Given the description of an element on the screen output the (x, y) to click on. 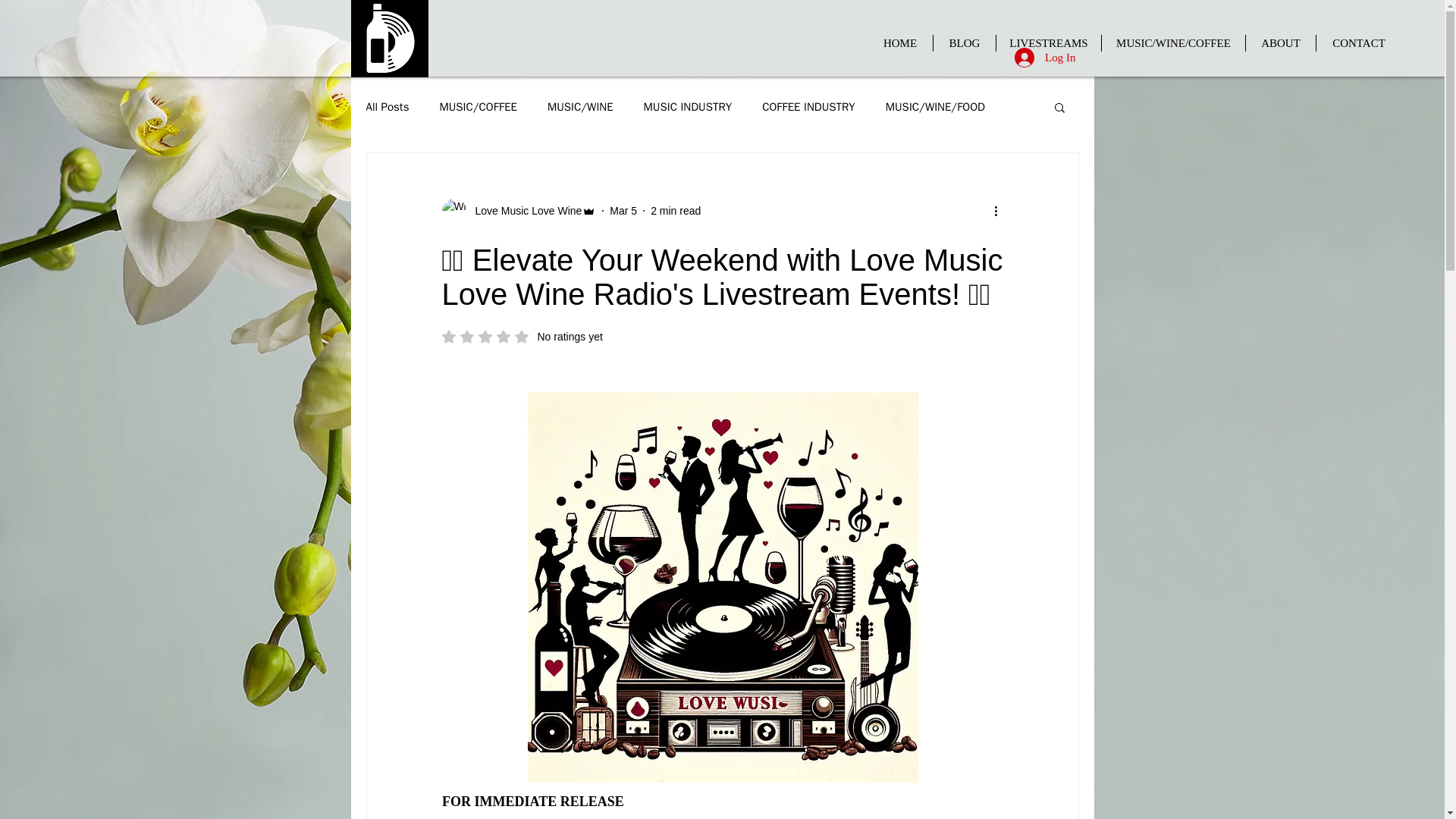
HOME (900, 43)
Log In (1045, 57)
ABOUT (1281, 43)
2 min read (675, 210)
BLOG (964, 43)
MUSIC INDUSTRY (687, 106)
LoveMusicLoveWineLogo.jpg (389, 38)
Love Music Love Wine (518, 210)
COFFEE INDUSTRY (808, 106)
Love Music Love  Wine (522, 211)
Mar 5 (623, 210)
LIVESTREAMS (1047, 43)
All Posts (387, 106)
CONTACT (521, 336)
